Given the description of an element on the screen output the (x, y) to click on. 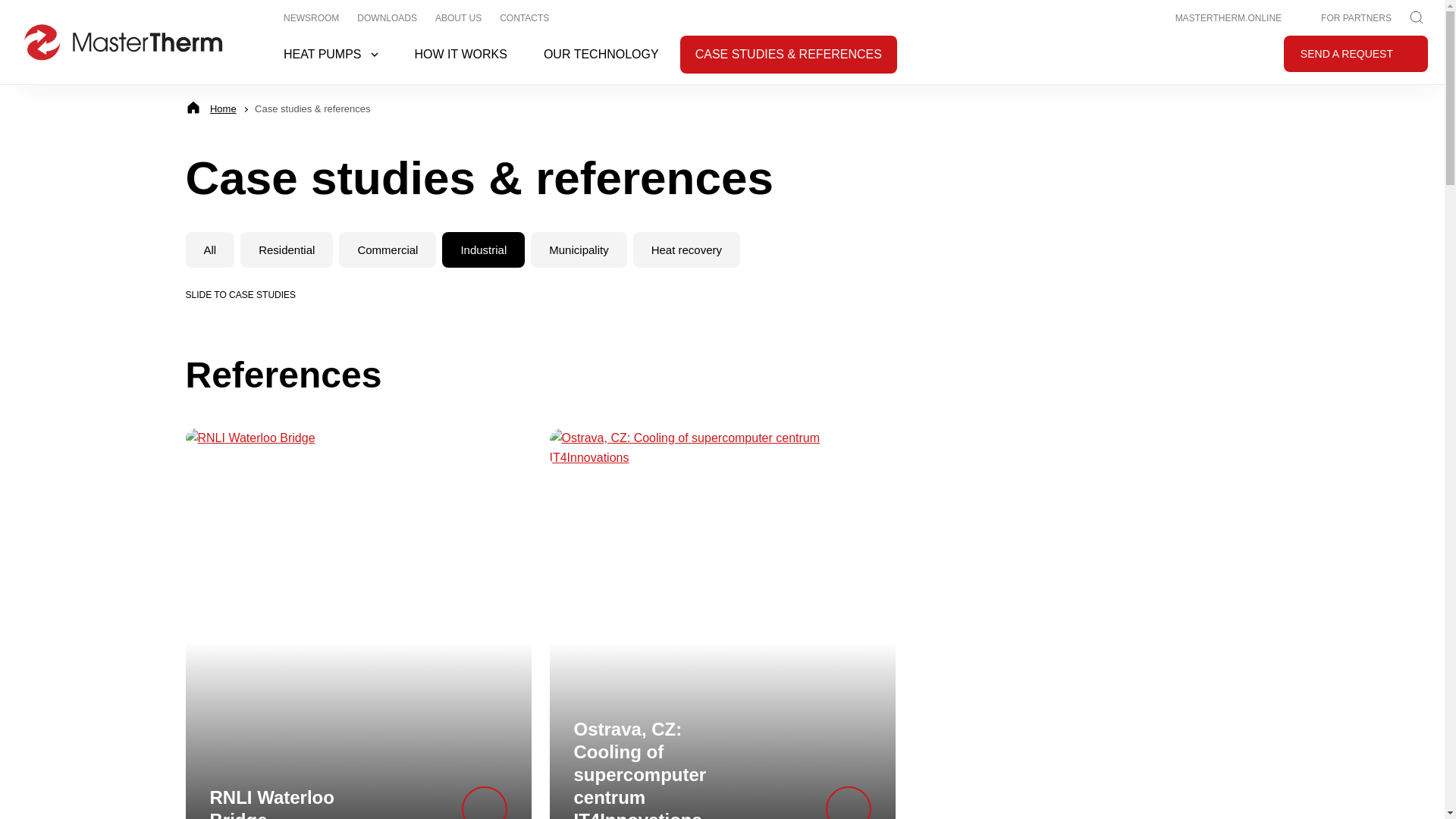
MASTERTHERM.ONLINE (1217, 17)
ABOUT US (458, 18)
OUR TECHNOLOGY (601, 54)
Residential (286, 249)
Commercial (387, 249)
Go to homepage (122, 42)
Industrial (483, 249)
Heat recovery (686, 249)
NEWSROOM (311, 18)
DOWNLOADS (386, 18)
SLIDE TO CASE STUDIES (252, 291)
FOR PARTNERS (1345, 17)
Home (222, 109)
All (209, 249)
CONTACTS (523, 18)
